Given the description of an element on the screen output the (x, y) to click on. 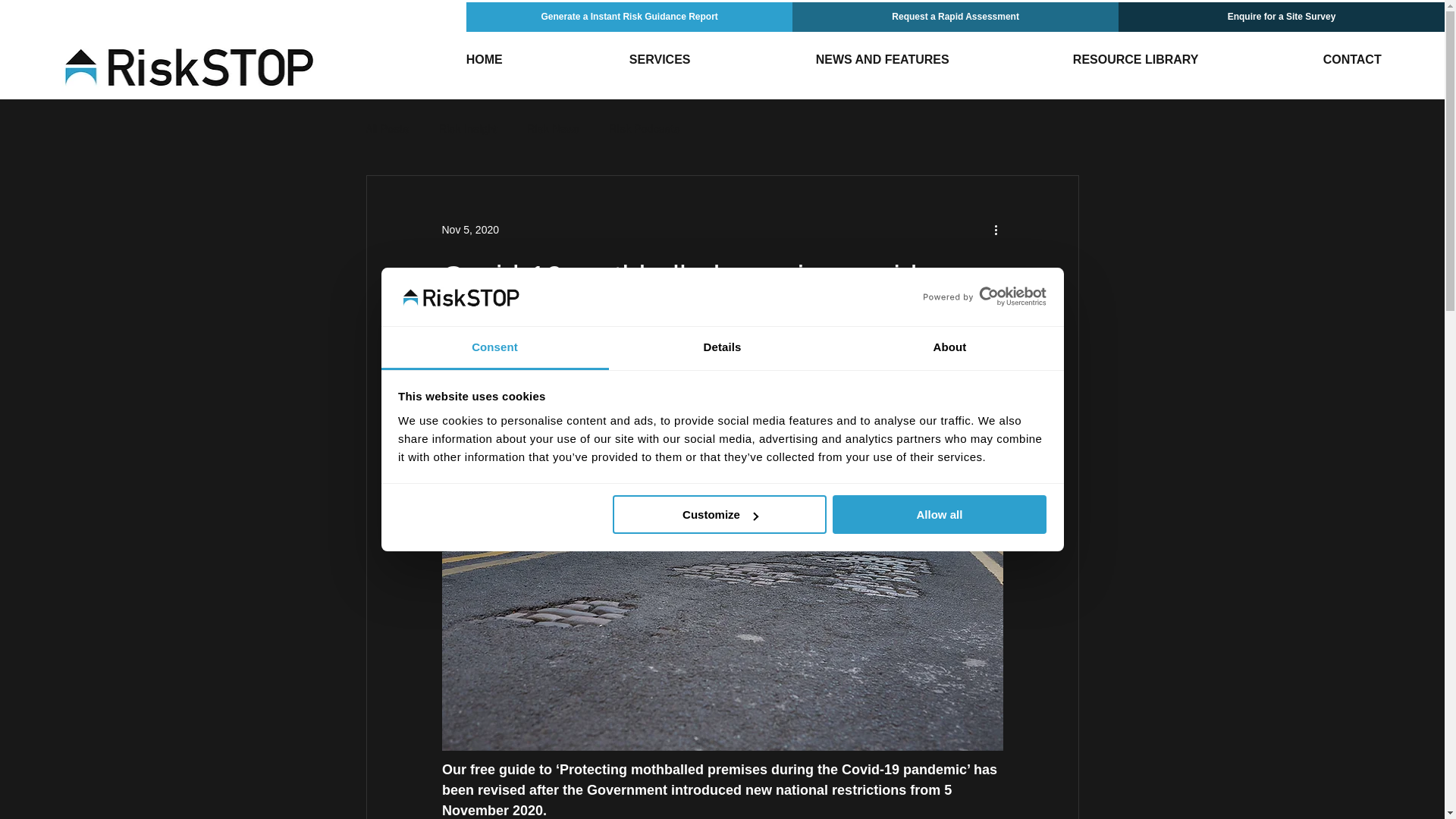
Customize (719, 514)
Details (721, 348)
HOME (483, 59)
Allow all (939, 514)
Nov 5, 2020 (470, 229)
Consent (494, 348)
About (948, 348)
